Given the description of an element on the screen output the (x, y) to click on. 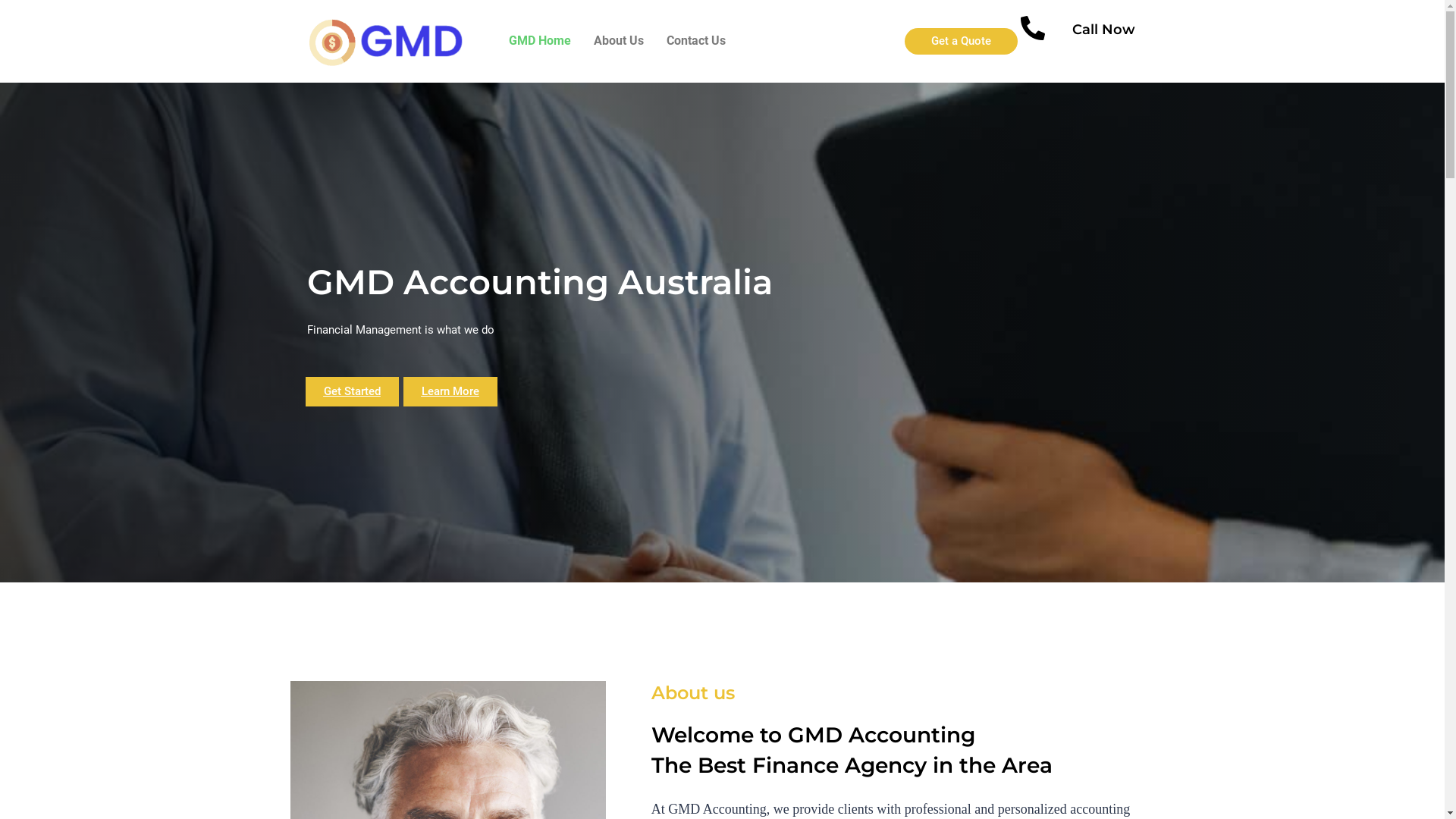
About Us Element type: text (618, 40)
Learn More Element type: text (450, 391)
Get a Quote Element type: text (960, 41)
Contact Us Element type: text (696, 40)
GMD Home Element type: text (539, 40)
Get Started Element type: text (351, 391)
